Given the description of an element on the screen output the (x, y) to click on. 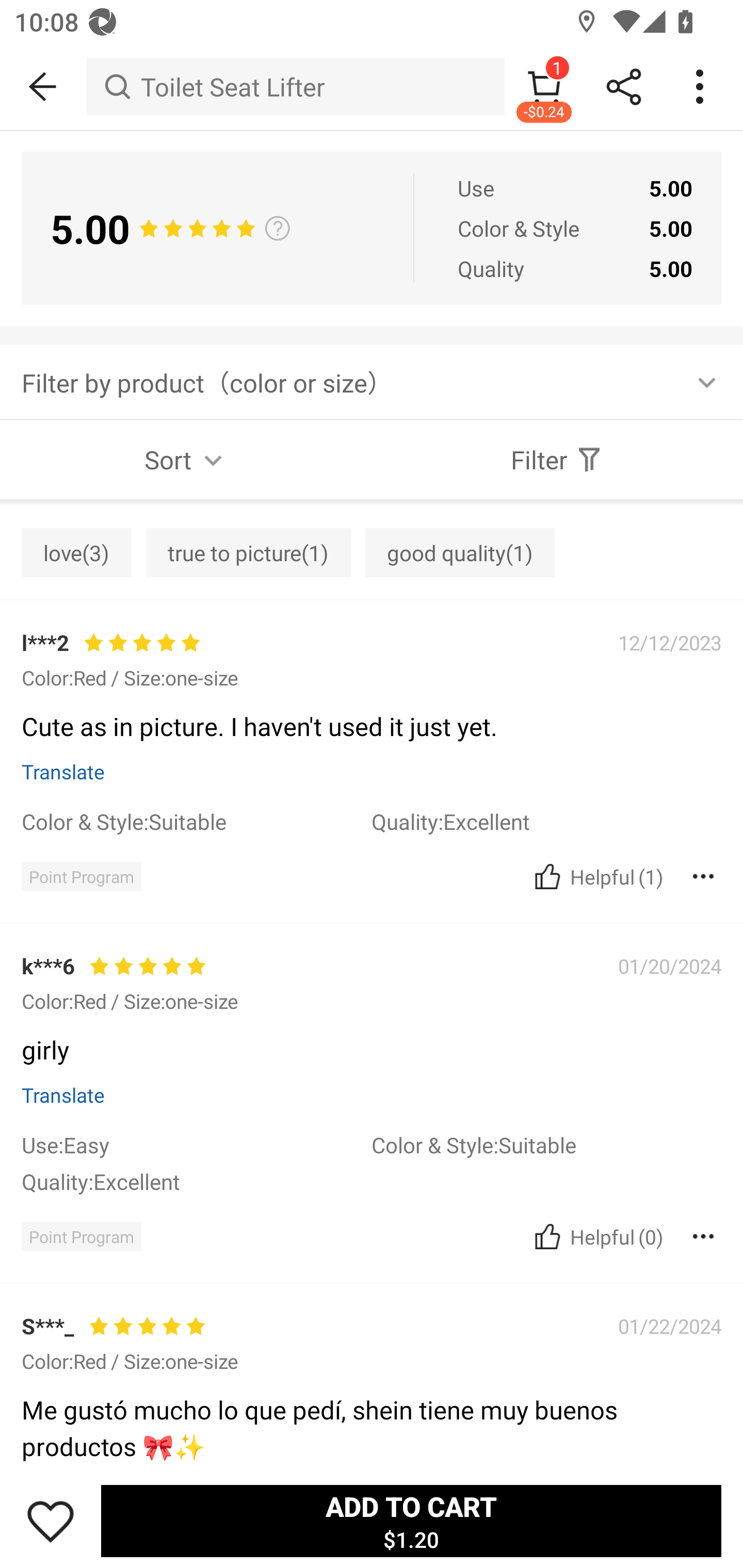
BACK (43, 86)
1 -$0.24 (543, 87)
Toilet Seat Lifter (295, 87)
PHOTOS Marketplace 1 / 7 (371, 501)
Filter by product（color or size） (371, 381)
Sort (185, 459)
Filter (557, 459)
love(3) (76, 552)
true to picture(1) (248, 552)
good quality(1) (460, 552)
Translate (62, 771)
Color & Style:Suitable (196, 820)
Quality:Excellent (546, 820)
Cancel Helpful Was this article helpful? (1) (596, 876)
Point Program (81, 876)
Save $0.06 off this item after joining. (371, 972)
Translate (62, 1094)
Use:Easy (196, 1144)
Color & Style:Suitable (546, 1144)
Quality:Excellent (196, 1181)
Cancel Helpful Was this article helpful? (0) (596, 1235)
Point Program (81, 1236)
ADD TO CART $1.20 (411, 1520)
Save (50, 1520)
